Given the description of an element on the screen output the (x, y) to click on. 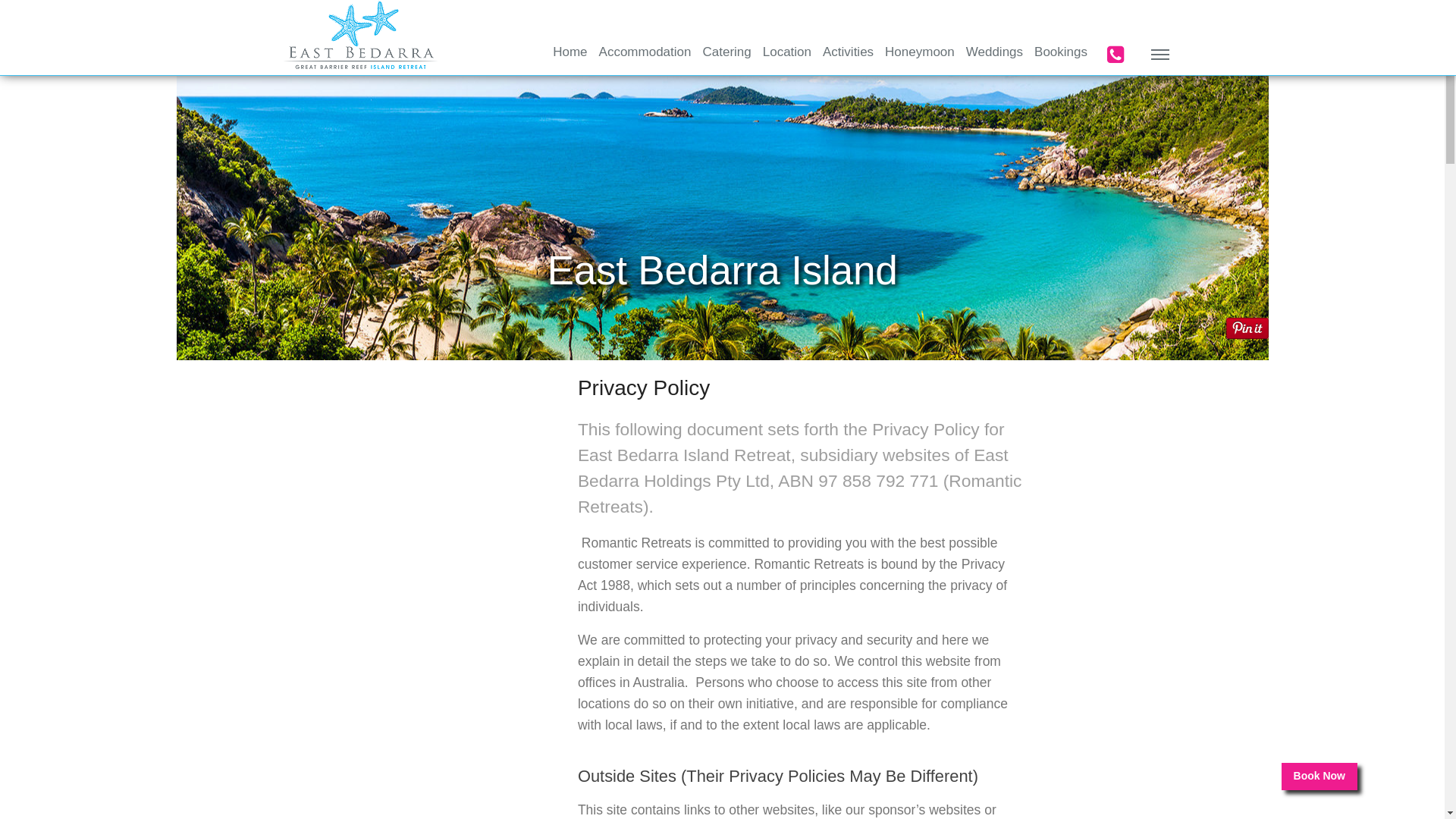
Activities Element type: text (847, 54)
Home Element type: text (569, 54)
Location Element type: text (786, 54)
Book Now Element type: text (1319, 775)
Honeymoon Element type: text (919, 54)
Weddings Element type: text (994, 54)
Catering Element type: text (726, 54)
Accommodation Element type: text (645, 54)
Bookings Element type: text (1060, 54)
